Given the description of an element on the screen output the (x, y) to click on. 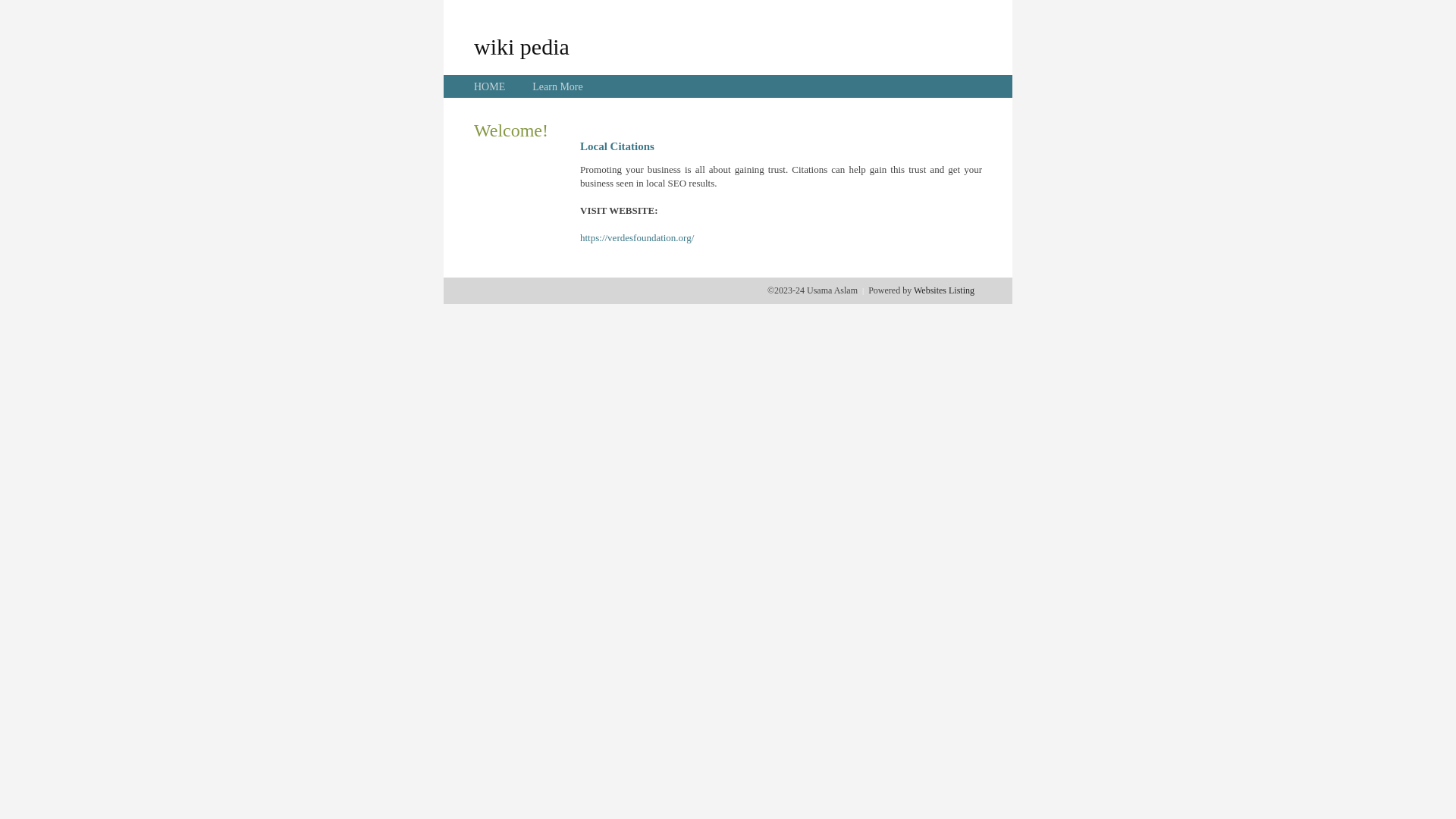
HOME Element type: text (489, 86)
https://verdesfoundation.org/ Element type: text (636, 237)
wiki pedia Element type: text (521, 46)
Websites Listing Element type: text (943, 290)
Learn More Element type: text (557, 86)
